Given the description of an element on the screen output the (x, y) to click on. 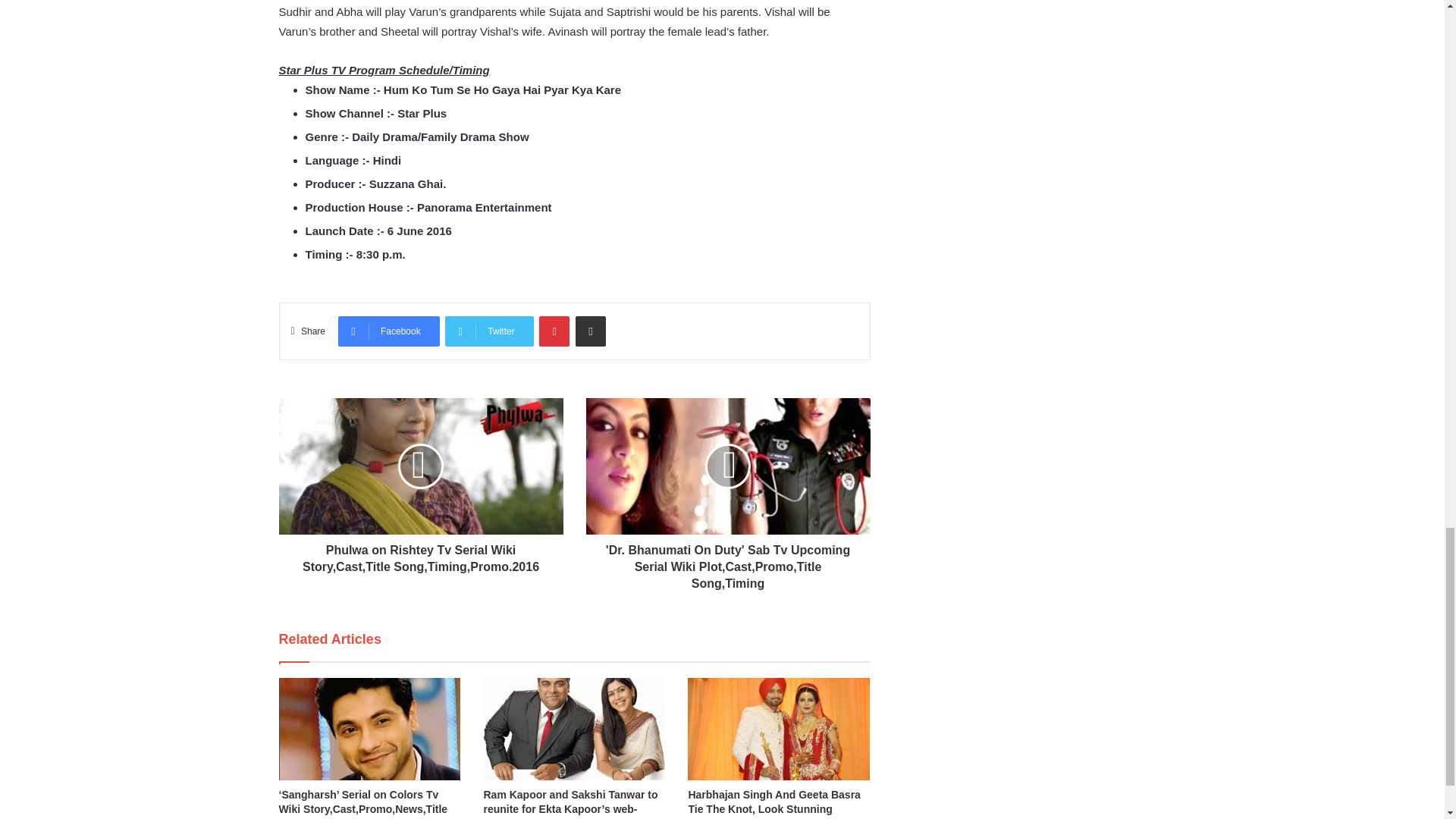
Share via Email (590, 331)
Facebook (388, 331)
Facebook (388, 331)
Pinterest (553, 331)
Pinterest (553, 331)
Twitter (488, 331)
Twitter (488, 331)
Share via Email (590, 331)
